Given the description of an element on the screen output the (x, y) to click on. 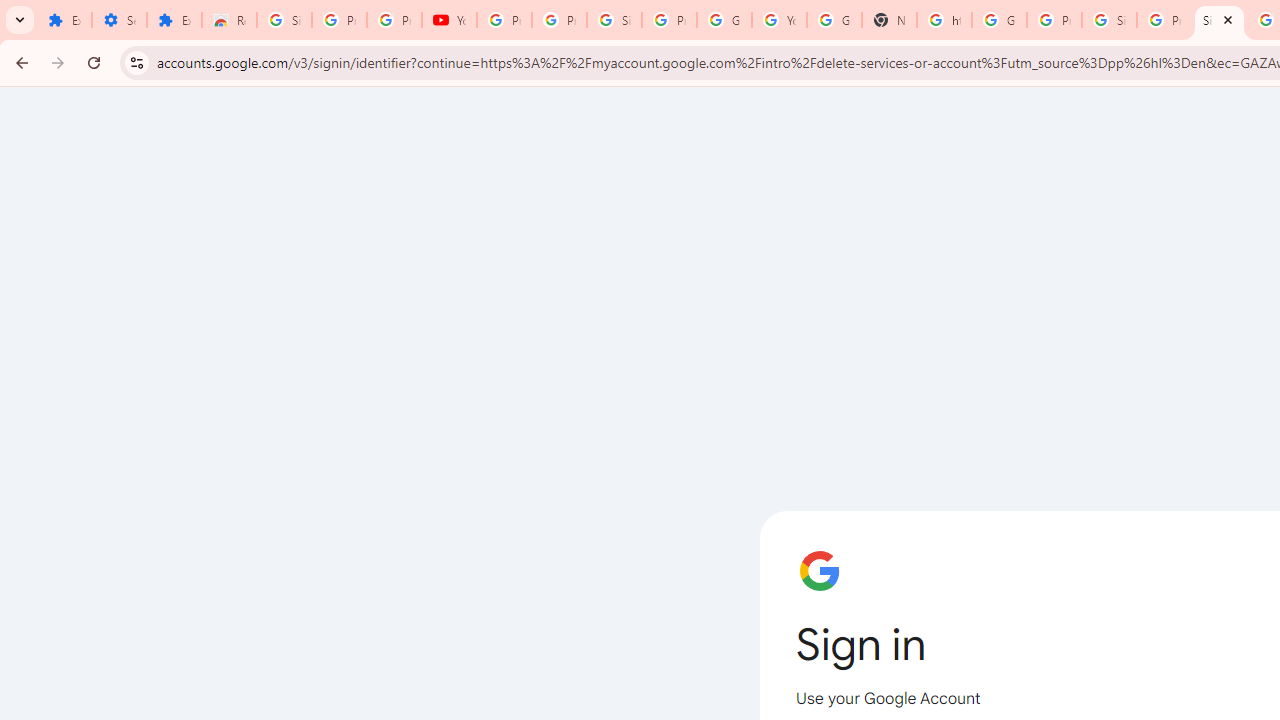
Extensions (64, 20)
YouTube (449, 20)
Reviews: Helix Fruit Jump Arcade Game (229, 20)
https://scholar.google.com/ (943, 20)
Sign in - Google Accounts (1218, 20)
